Given the description of an element on the screen output the (x, y) to click on. 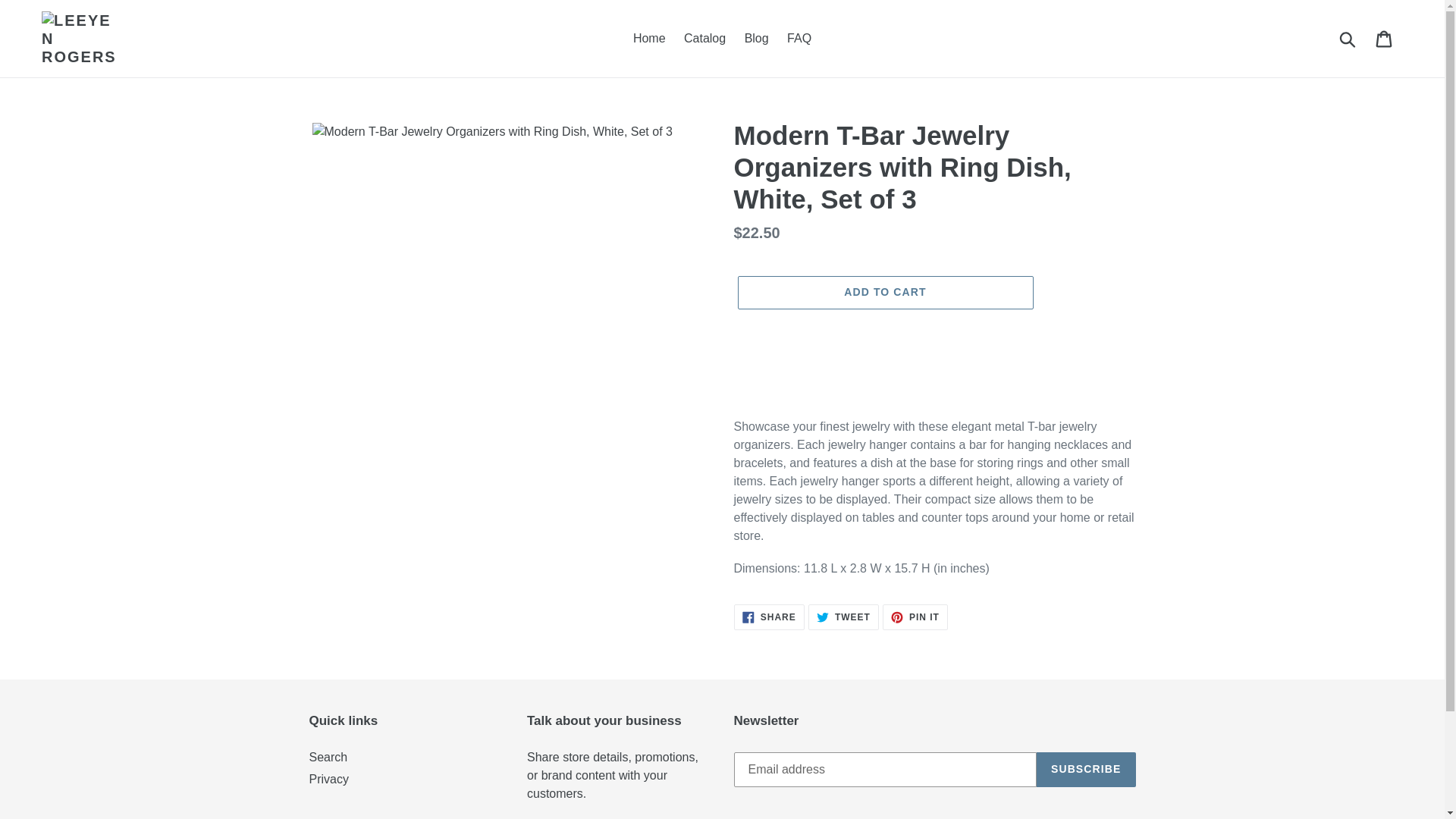
SUBSCRIBE (1085, 769)
Home (649, 38)
ADD TO CART (884, 292)
Submit (1348, 38)
Catalog (705, 38)
Privacy (328, 779)
Cart (1385, 38)
Search (327, 757)
FAQ (843, 616)
Blog (798, 38)
